Given the description of an element on the screen output the (x, y) to click on. 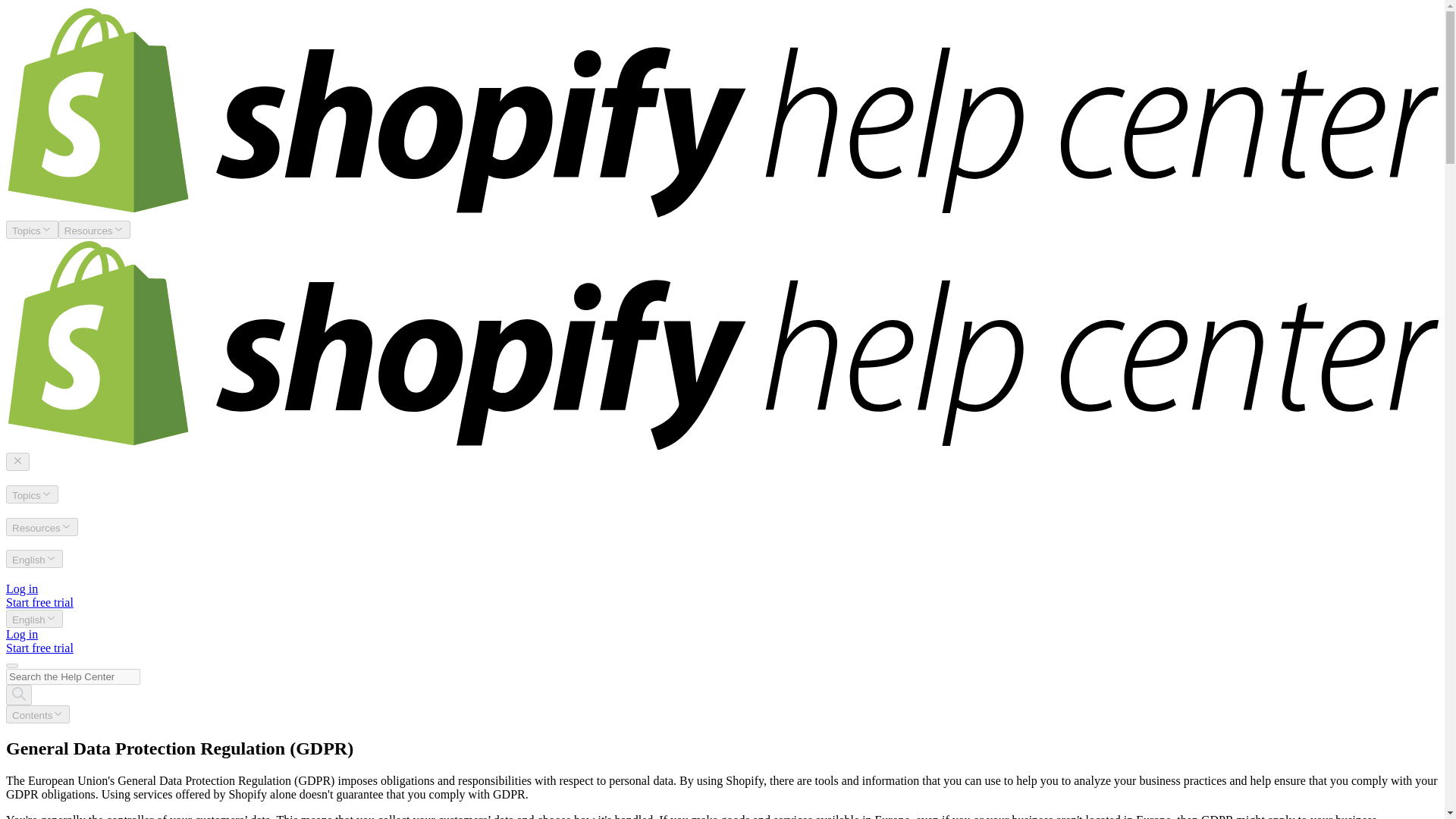
English (33, 558)
English (33, 618)
Resources (94, 229)
Start free trial (39, 647)
Resources (41, 526)
Contents (37, 714)
Topics (31, 229)
Log in (21, 634)
Topics (31, 494)
Log in (21, 588)
